Given the description of an element on the screen output the (x, y) to click on. 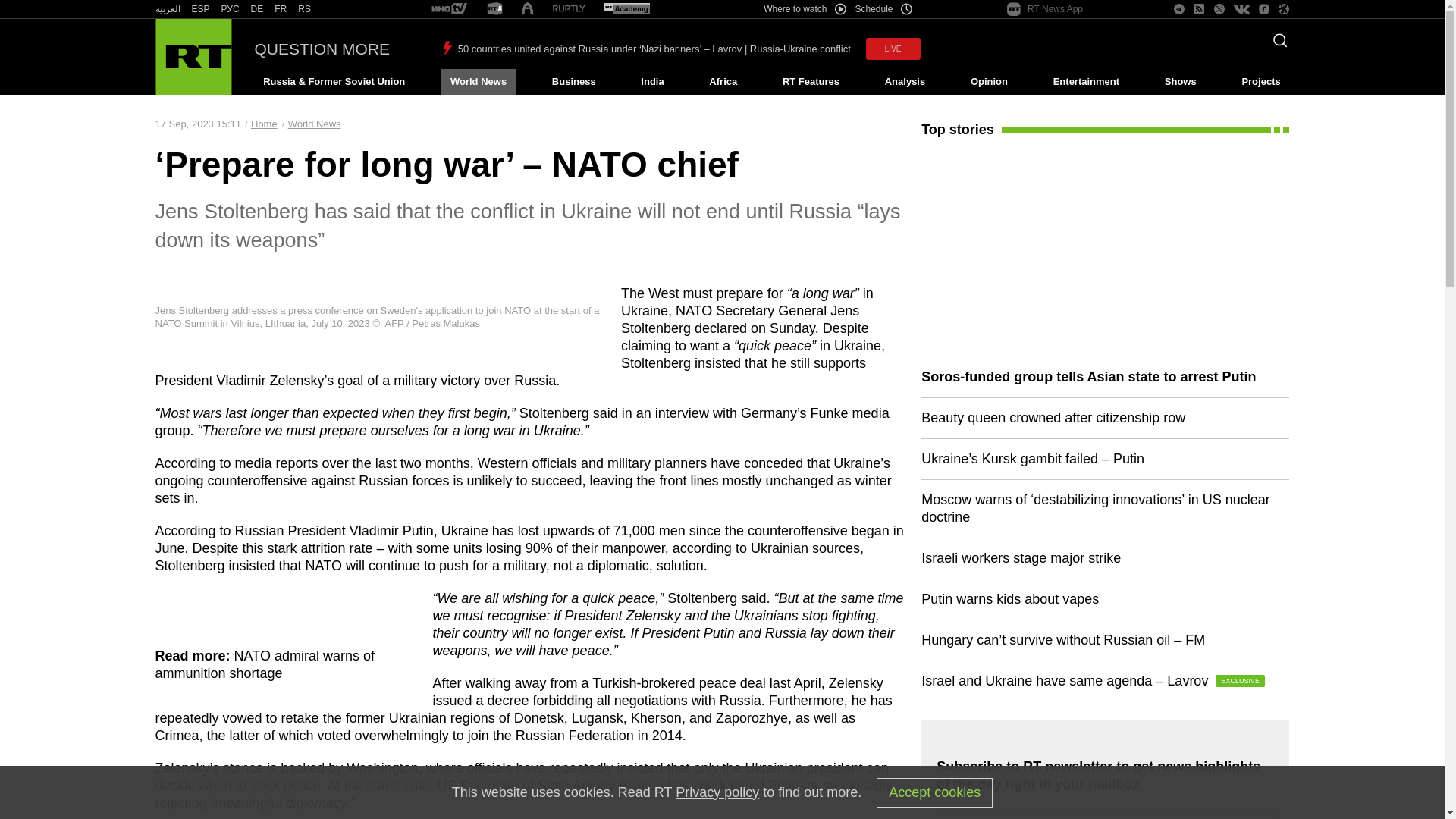
RT  (230, 9)
RT  (304, 9)
RT  (256, 9)
India (651, 81)
RS (304, 9)
RT  (569, 8)
Entertainment (1085, 81)
World News (478, 81)
Projects (1261, 81)
Business (573, 81)
